Given the description of an element on the screen output the (x, y) to click on. 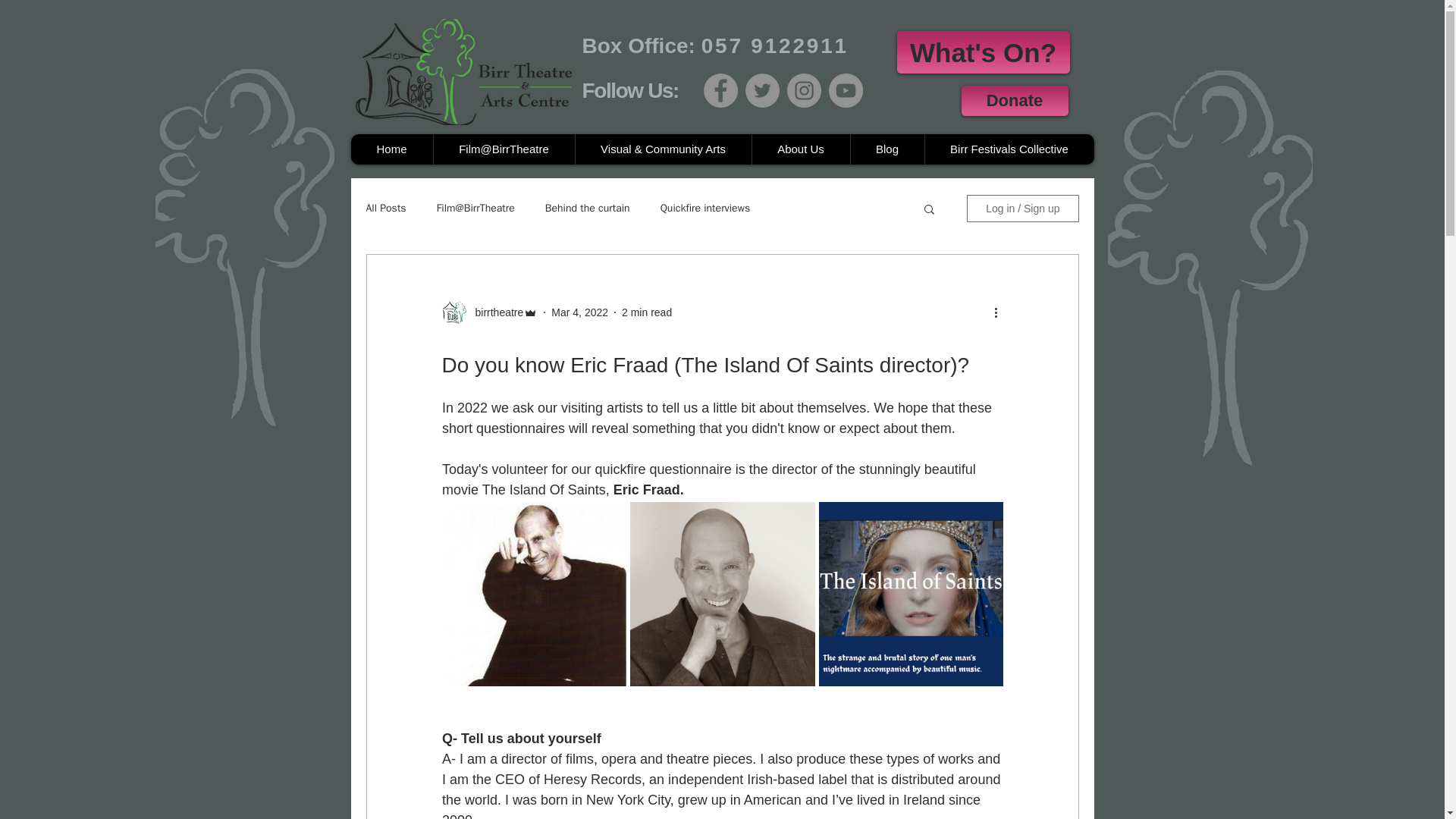
Quickfire interviews (706, 208)
2 min read (646, 312)
About Us (799, 149)
Donate (1014, 100)
What's On? (982, 52)
Blog (885, 149)
Mar 4, 2022 (579, 312)
All Posts (385, 208)
birrtheatre (493, 312)
Behind the curtain (587, 208)
